Given the description of an element on the screen output the (x, y) to click on. 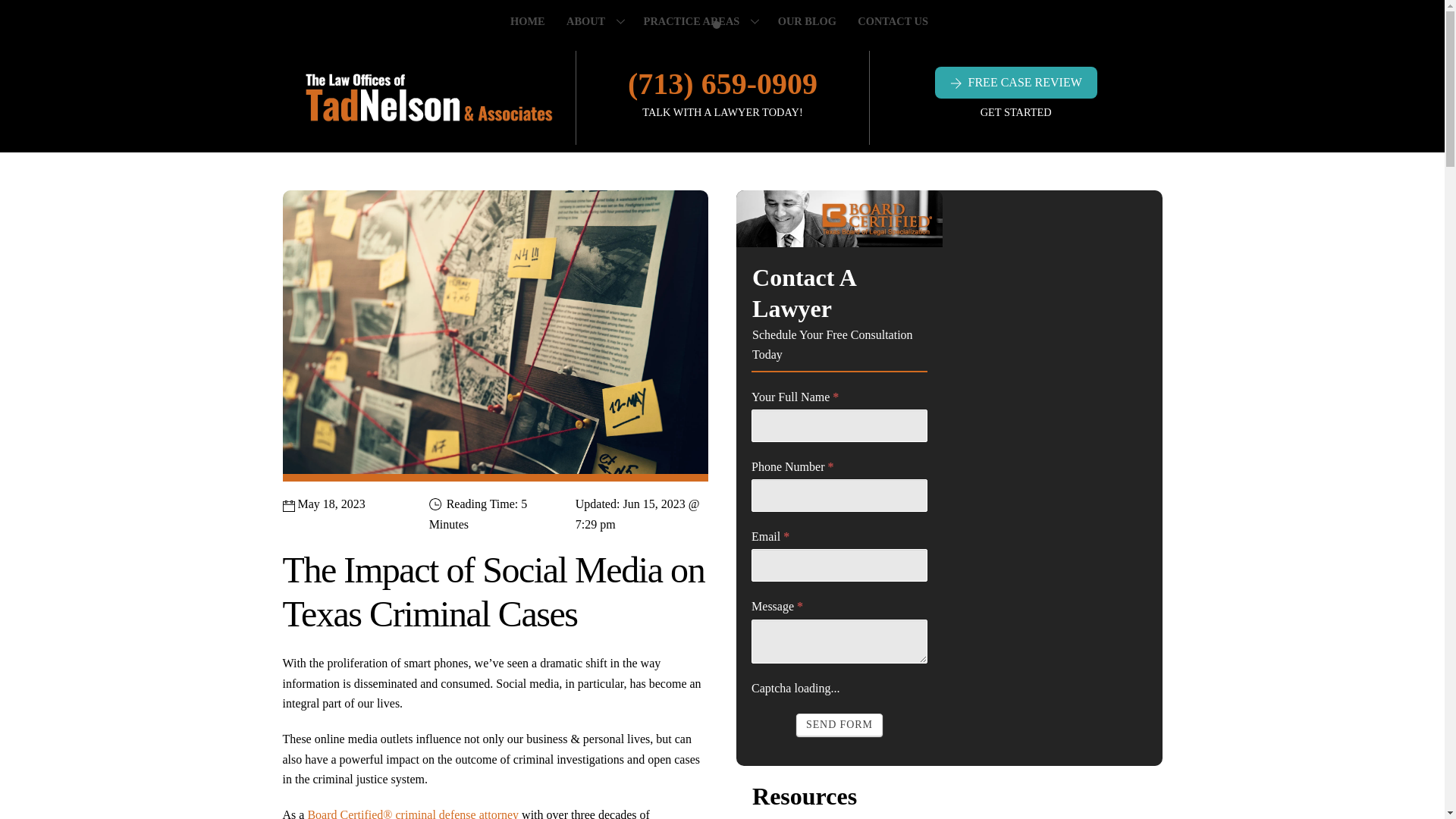
PRACTICE AREAS (703, 21)
FREE CASE REVIEW (1015, 82)
SEND FORM (839, 724)
ABOUT (596, 21)
CONTACT US (896, 21)
HOME (530, 21)
OUR BLOG (810, 21)
Criminal Investigation (721, 21)
The Impact of Social Media on Texas Criminal Cases (494, 335)
